Given the description of an element on the screen output the (x, y) to click on. 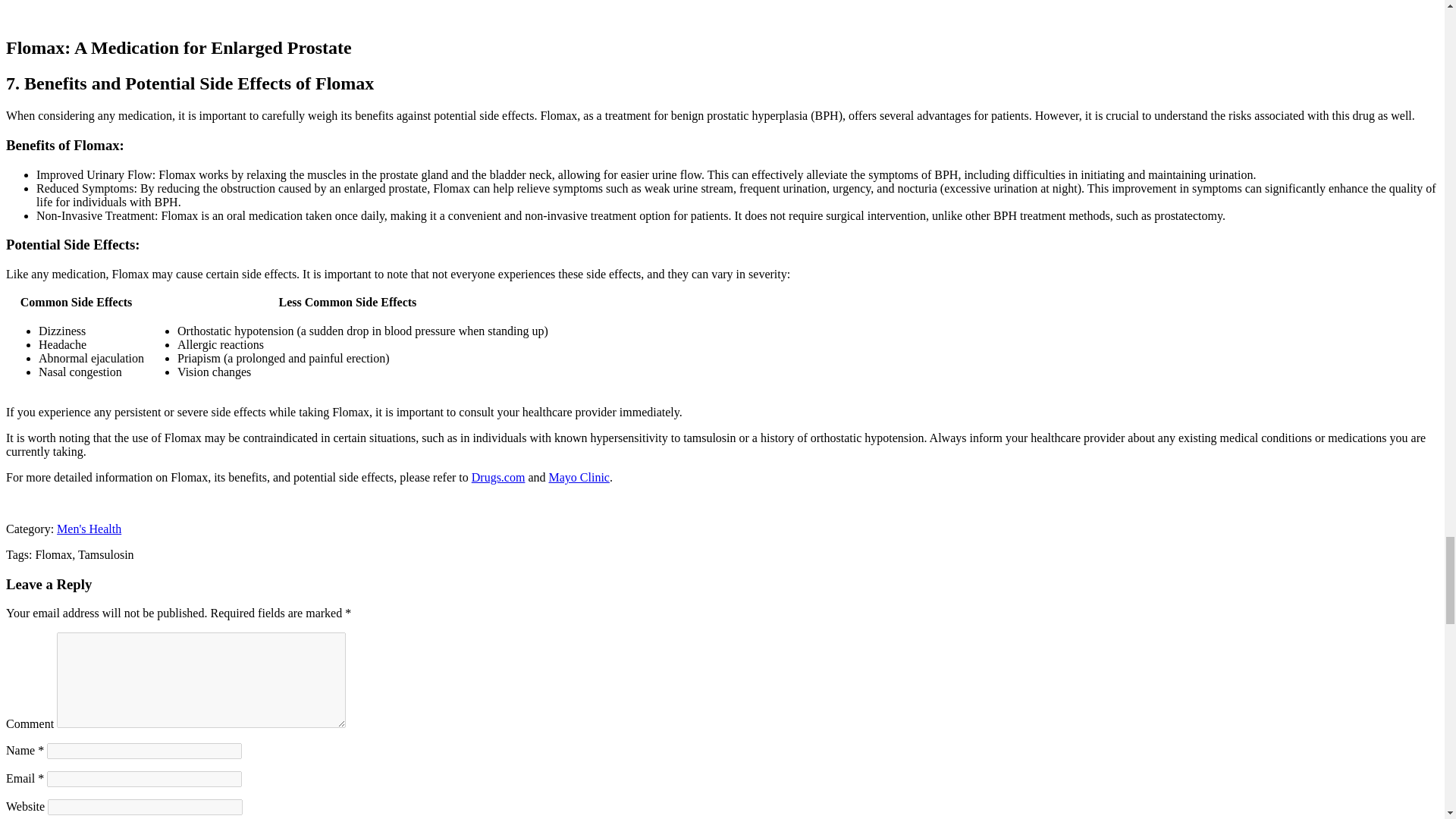
Drugs.com (498, 477)
Men's Health (88, 528)
Mayo Clinic (579, 477)
